Given the description of an element on the screen output the (x, y) to click on. 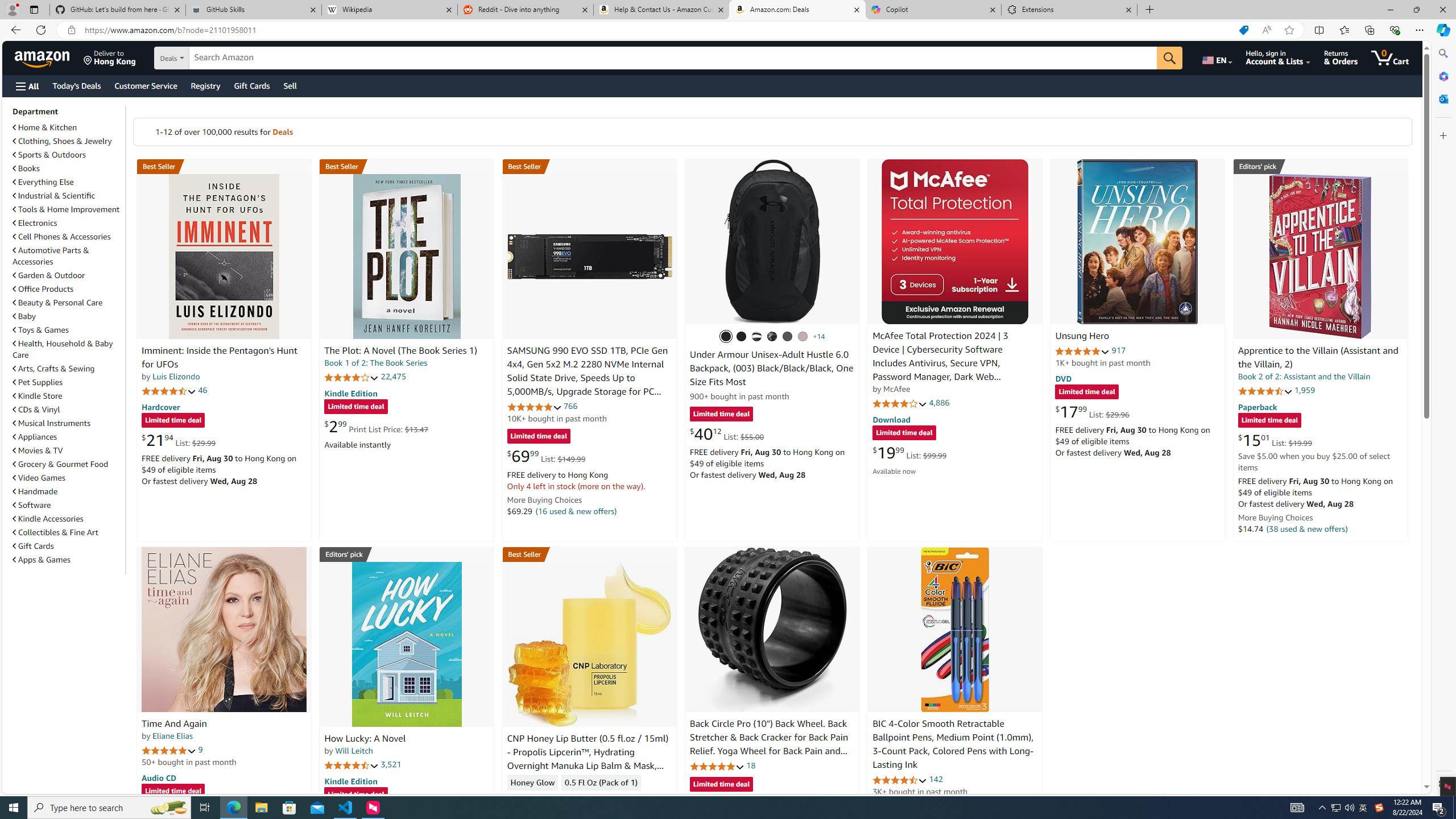
$2.99 Print List Price: $13.47 (376, 426)
GitHub Skills (253, 9)
Hardcover (160, 406)
Handmade (67, 491)
Search in (210, 58)
Industrial & Scientific (54, 195)
Imminent: Inside the Pentagon's Hunt for UFOs (219, 358)
1,959 (1305, 390)
Copilot (933, 9)
Tools & Home Improvement (67, 208)
5.0 out of 5 stars (168, 750)
